Given the description of an element on the screen output the (x, y) to click on. 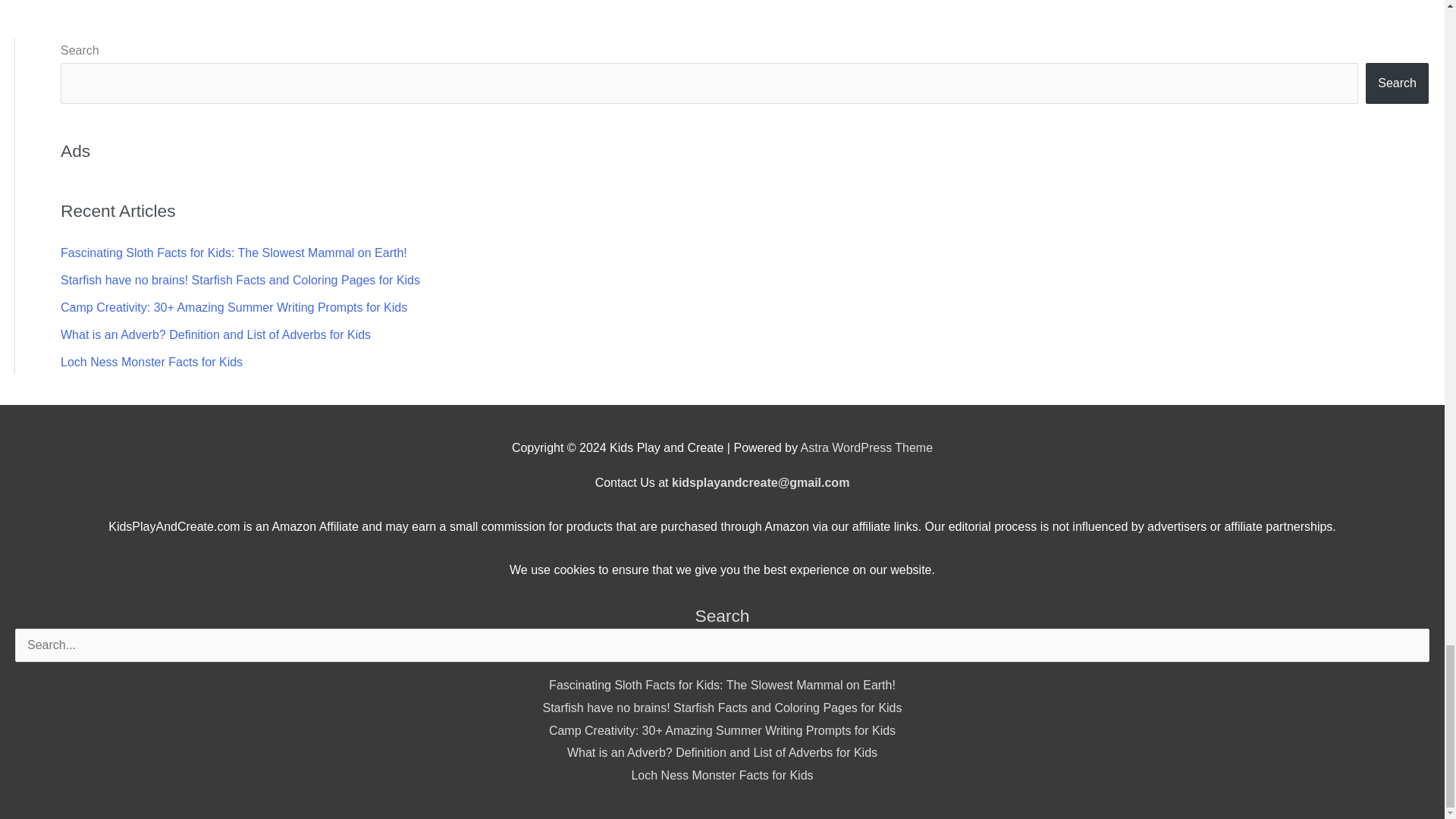
What is an Adverb? Definition and List of Adverbs for Kids (722, 752)
Search (1411, 649)
What is an Adverb? Definition and List of Adverbs for Kids (216, 334)
Search (1411, 649)
Search (1396, 83)
Astra WordPress Theme (866, 447)
Search (1411, 649)
Loch Ness Monster Facts for Kids (152, 361)
